Given the description of an element on the screen output the (x, y) to click on. 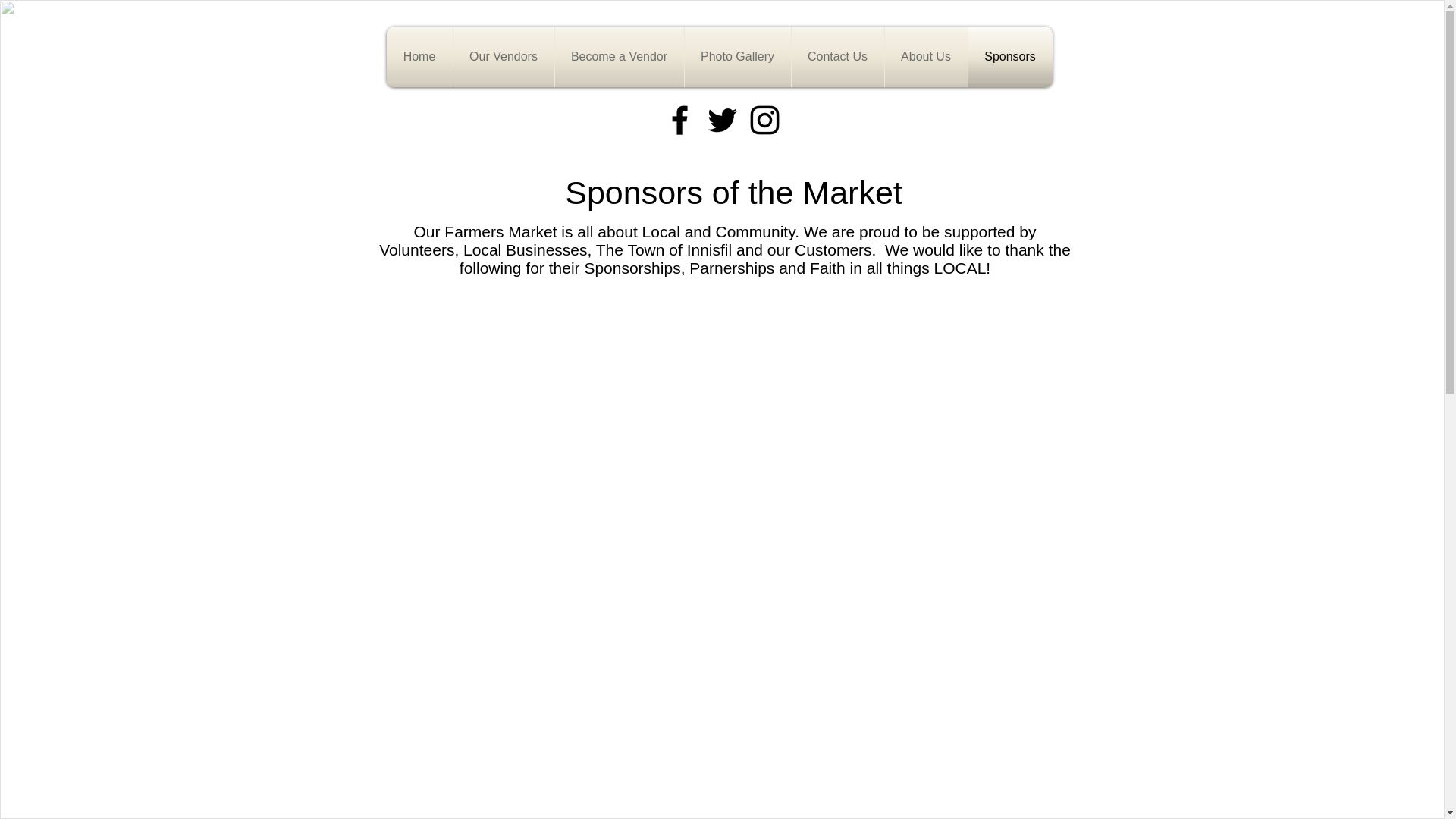
Our Vendors (503, 56)
Contact Us (837, 56)
About Us (924, 56)
Home (419, 56)
Sponsors (1009, 56)
Photo Gallery (737, 56)
Become a Vendor (619, 56)
